Given the description of an element on the screen output the (x, y) to click on. 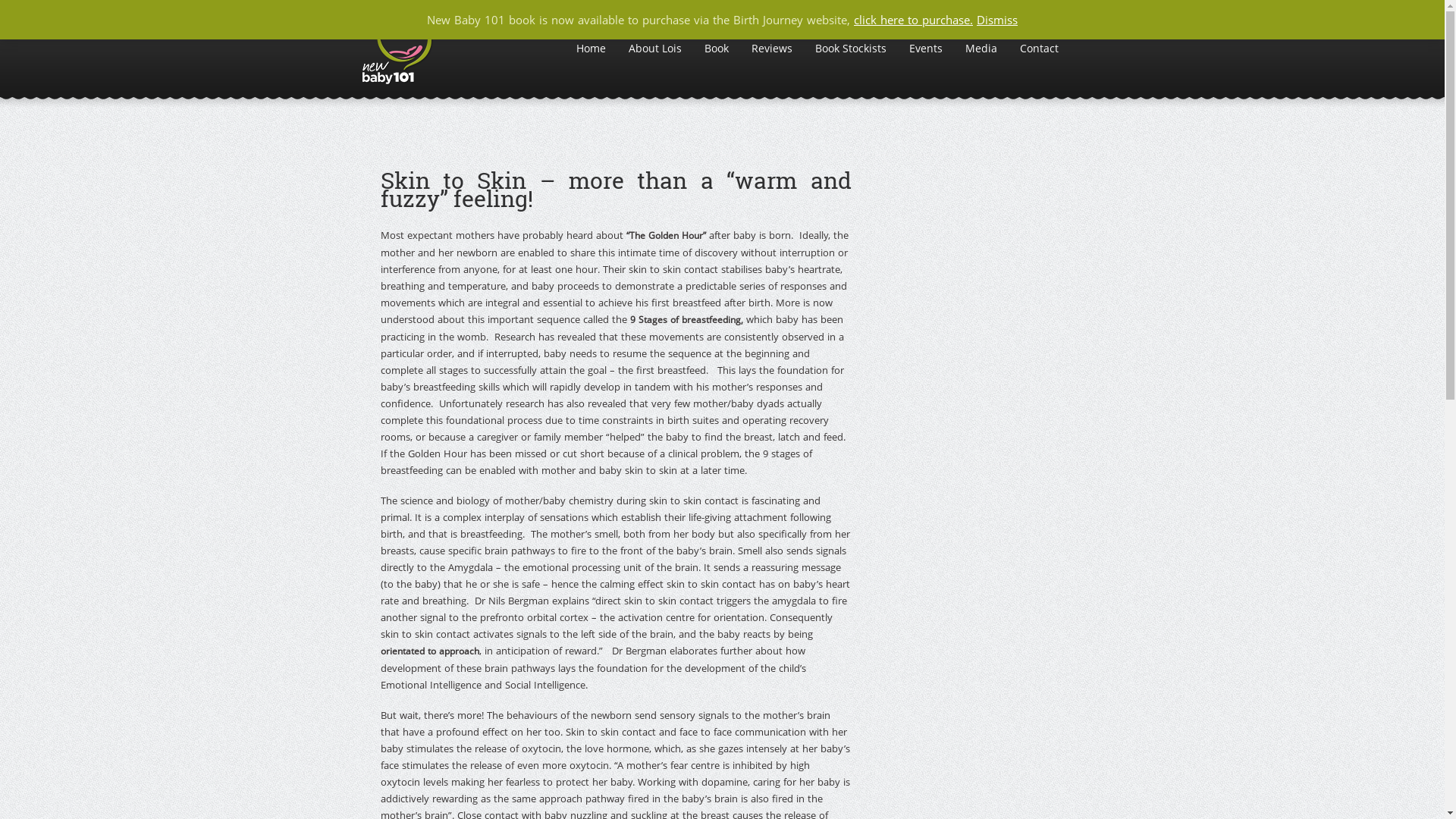
click here to purchase. Element type: text (912, 19)
Home Element type: text (591, 48)
Book Stockists Element type: text (849, 48)
Contact Element type: text (1038, 48)
Dismiss Element type: text (996, 19)
Events Element type: text (924, 48)
Media Element type: text (980, 48)
New Baby 101 Element type: hover (396, 47)
About Lois Element type: text (654, 48)
Book Element type: text (715, 48)
Recommended Services & Products Element type: text (968, 19)
Reviews Element type: text (770, 48)
